Given the description of an element on the screen output the (x, y) to click on. 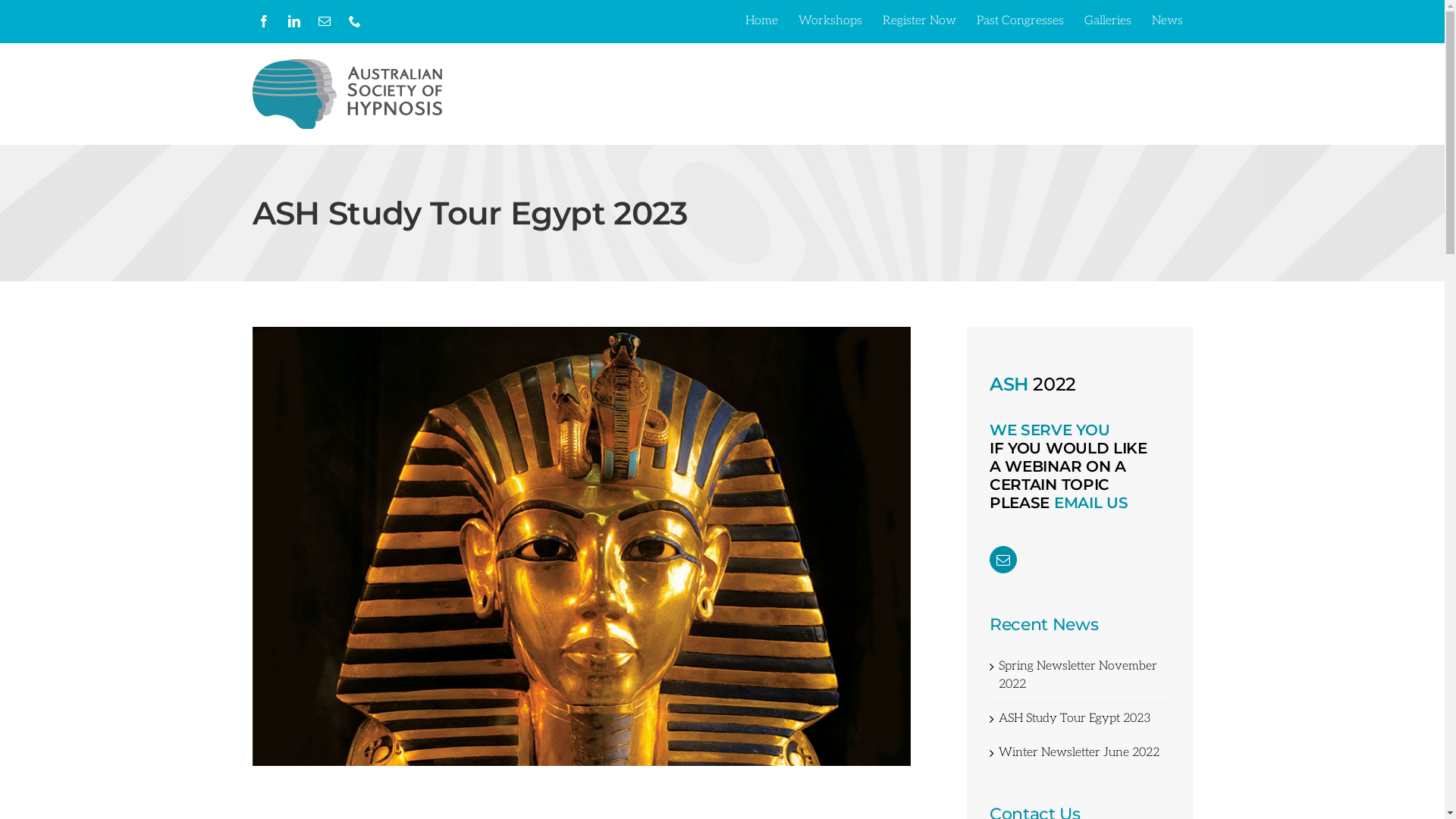
Spring Newsletter November 2022 Element type: text (1077, 674)
Facebook Element type: text (262, 20)
Register Now Element type: text (918, 21)
Phone Element type: text (353, 20)
View Larger Image Element type: text (580, 545)
LinkedIn Element type: text (293, 20)
Home Element type: text (761, 21)
Email Element type: text (323, 20)
News Element type: text (1167, 21)
Winter Newsletter June 2022 Element type: text (1078, 752)
Workshops Element type: text (830, 21)
Past Congresses Element type: text (1019, 21)
EMAIL US Element type: text (1091, 502)
Galleries Element type: text (1106, 21)
ASH Study Tour Egypt 2023 Element type: text (1074, 718)
